Given the description of an element on the screen output the (x, y) to click on. 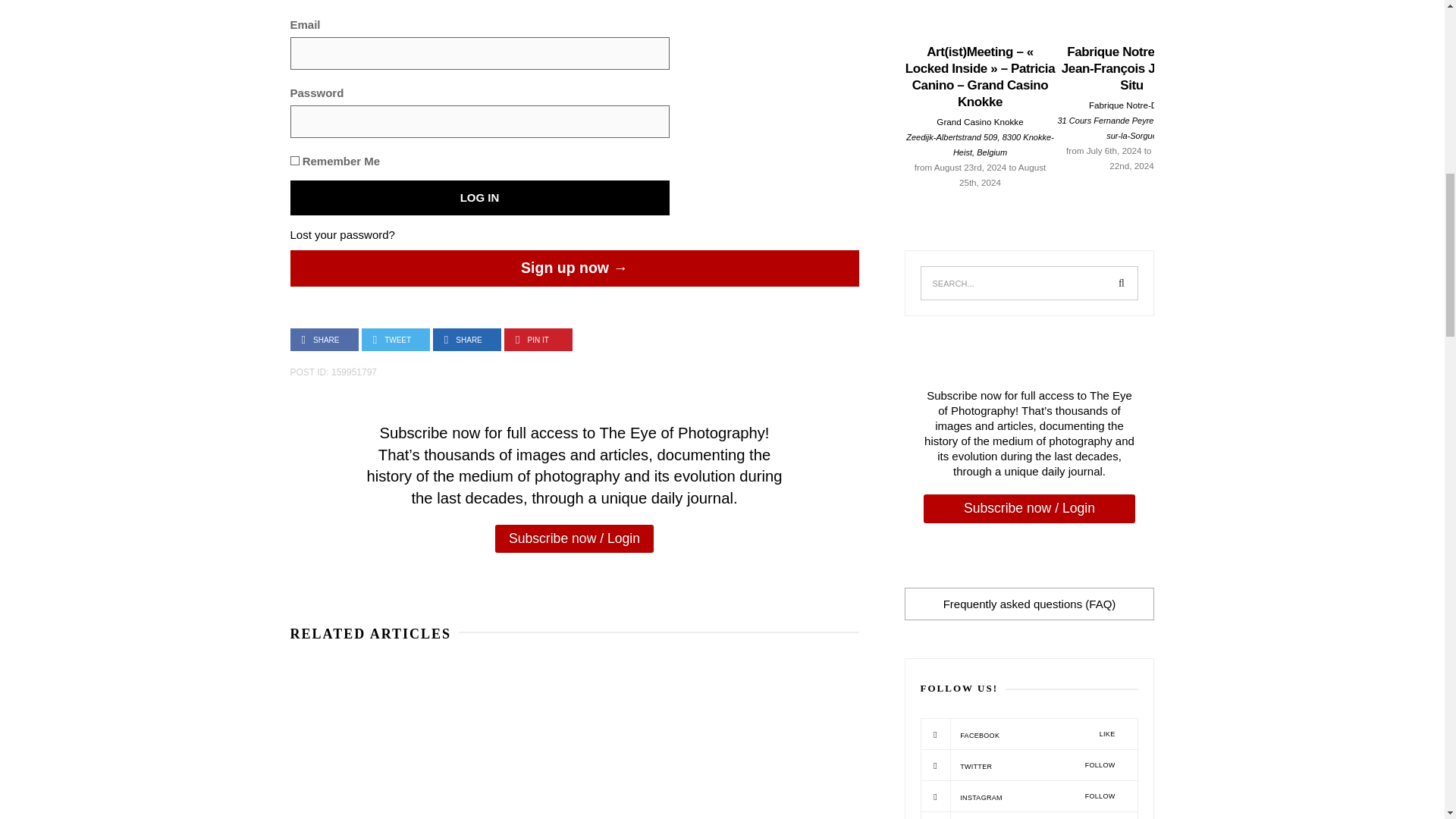
forever (293, 160)
Log In (478, 197)
